Given the description of an element on the screen output the (x, y) to click on. 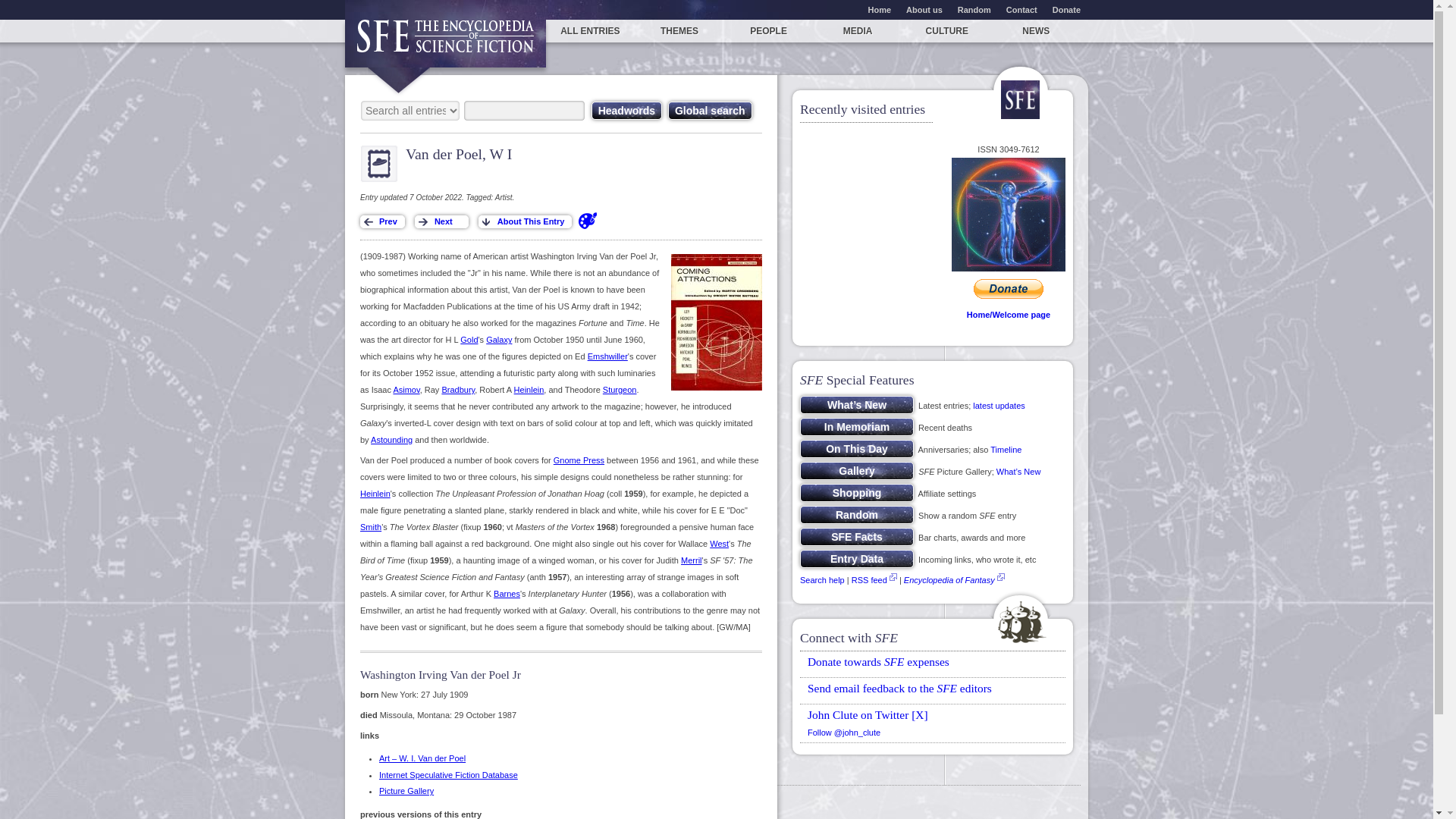
Barnes (506, 593)
PEOPLE (768, 30)
Headwords (626, 110)
Search help (821, 579)
Prev (381, 221)
Select entry category for headword or global search (409, 110)
latest updates (998, 405)
Random (856, 515)
Gnome Press (578, 460)
Merril (691, 560)
